Given the description of an element on the screen output the (x, y) to click on. 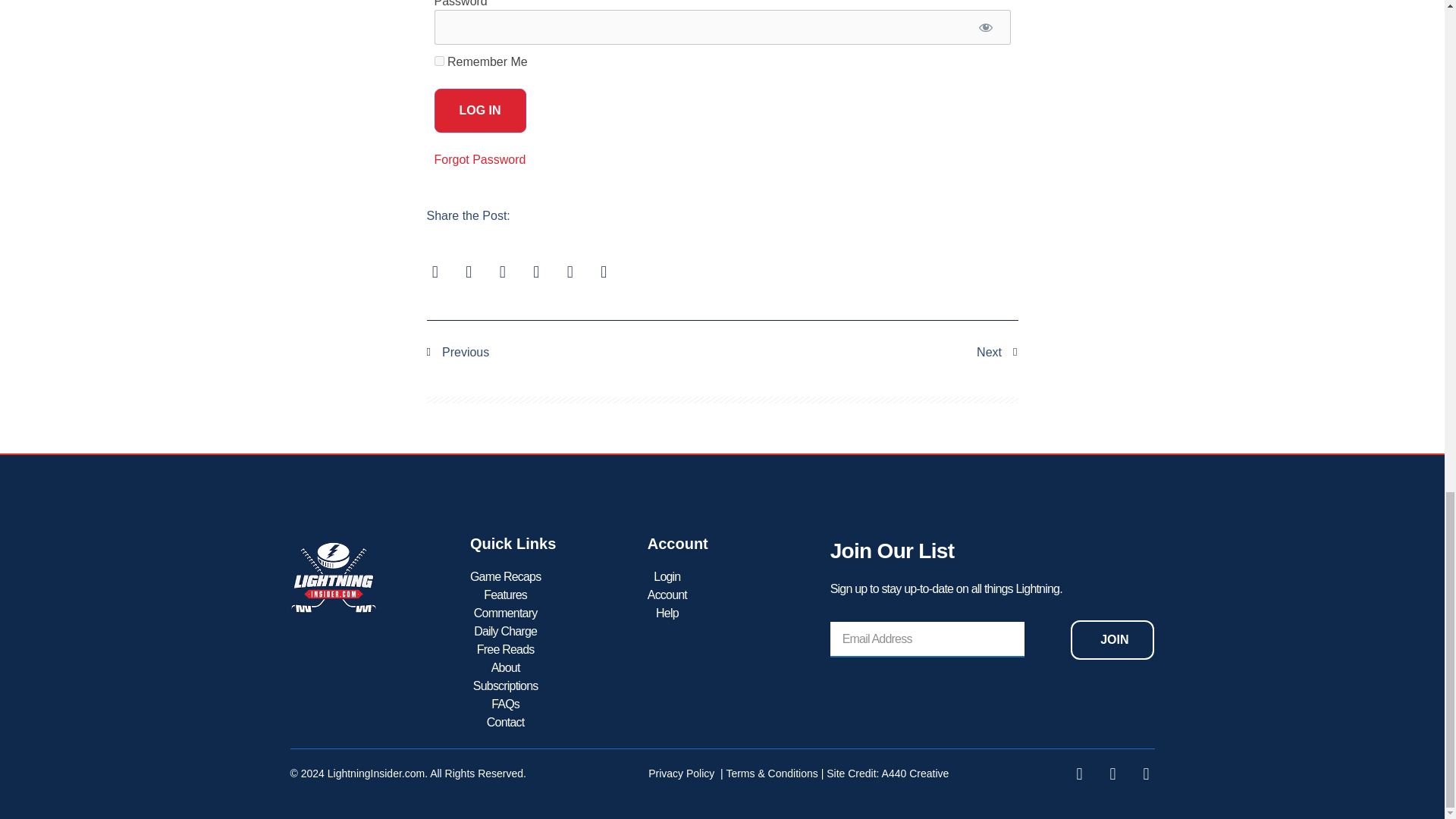
Daily Charge (505, 631)
Game Recaps (505, 577)
Features (505, 595)
Next (869, 352)
forever (438, 61)
Forgot Password (479, 159)
Subscriptions (505, 686)
Contact (505, 722)
Log In (479, 110)
Previous (574, 352)
Log In (479, 110)
FAQs (505, 704)
Commentary (505, 613)
Free Reads (505, 649)
About (505, 668)
